Given the description of an element on the screen output the (x, y) to click on. 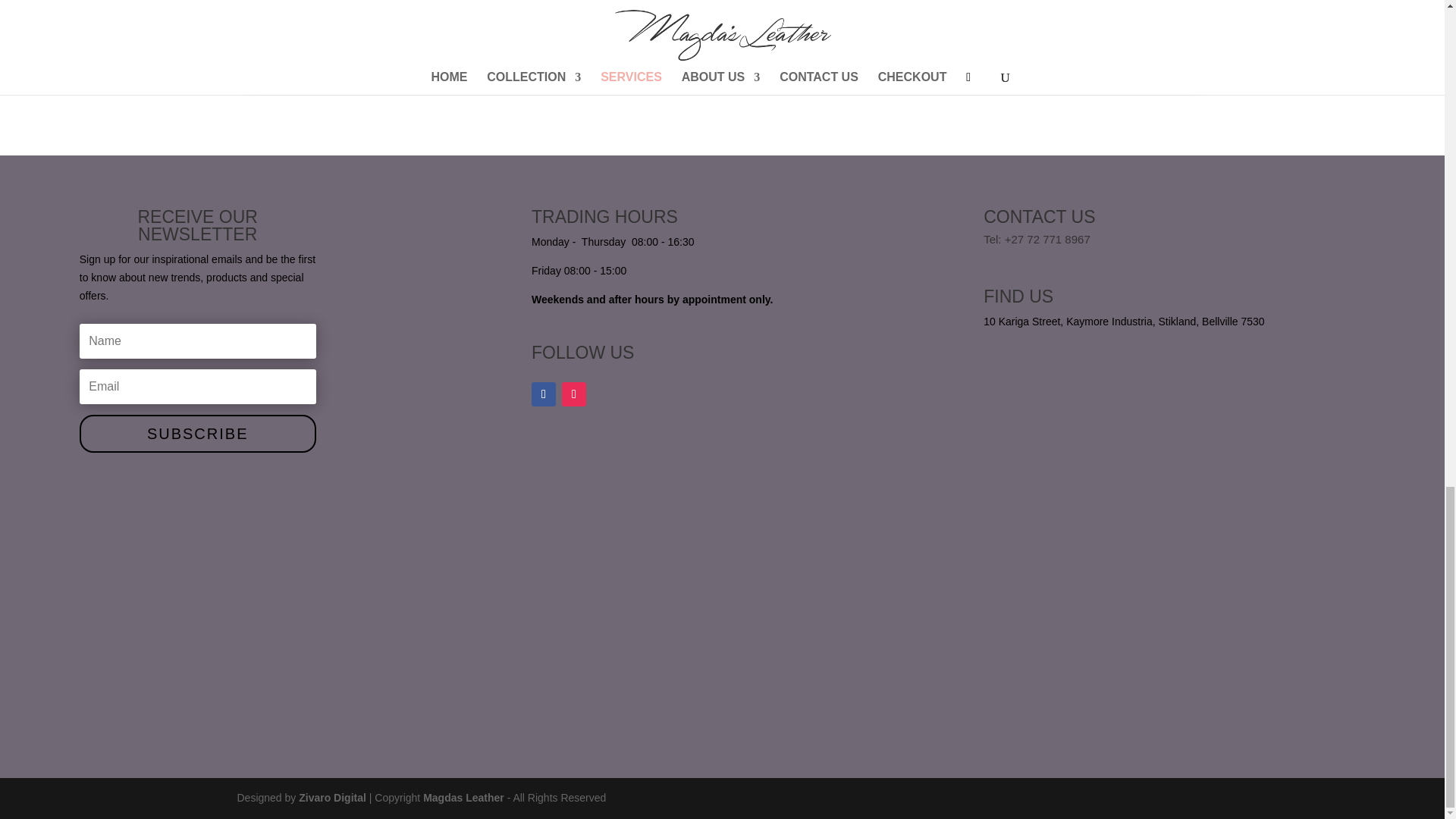
Follow on Instagram (574, 394)
Zivaro Digital (333, 797)
SUBSCRIBE (197, 433)
Follow on Facebook (543, 394)
Hadassah Interiors (958, 31)
Magdas Leather (464, 797)
